Given the description of an element on the screen output the (x, y) to click on. 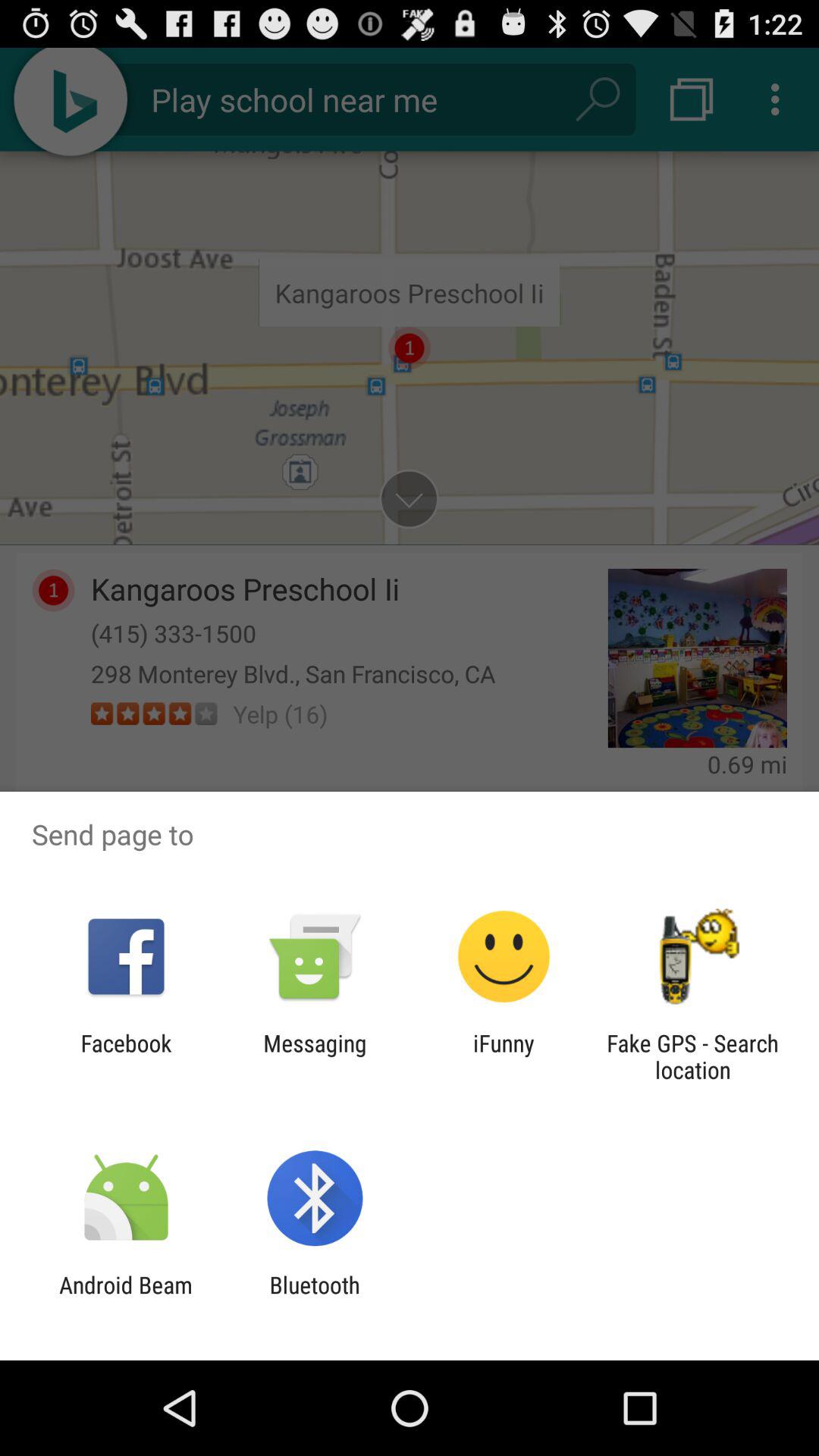
scroll until the android beam icon (125, 1298)
